Given the description of an element on the screen output the (x, y) to click on. 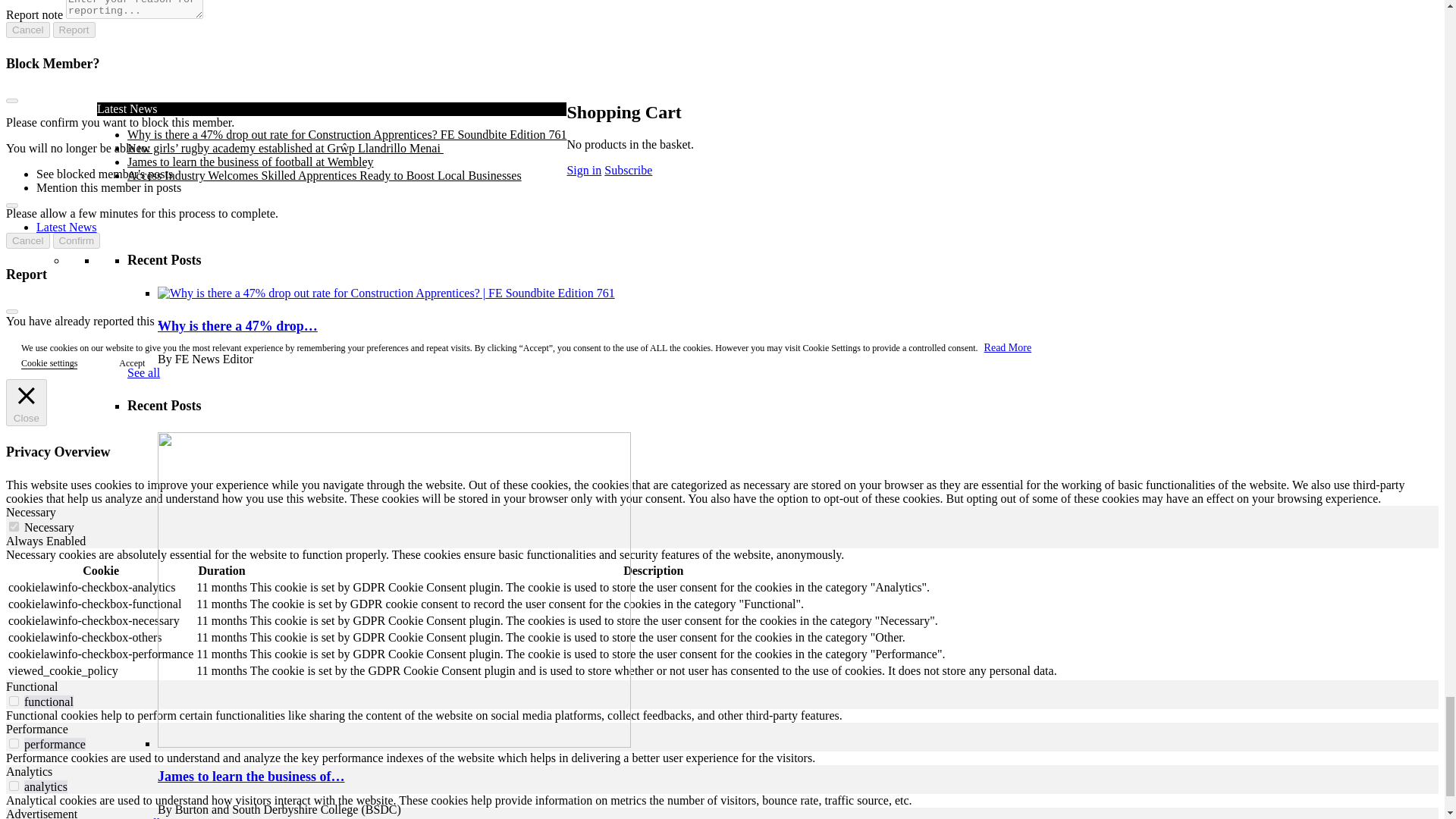
on (13, 526)
on (13, 786)
on (13, 743)
Cancel (27, 240)
on (13, 700)
Cancel (27, 29)
